Given the description of an element on the screen output the (x, y) to click on. 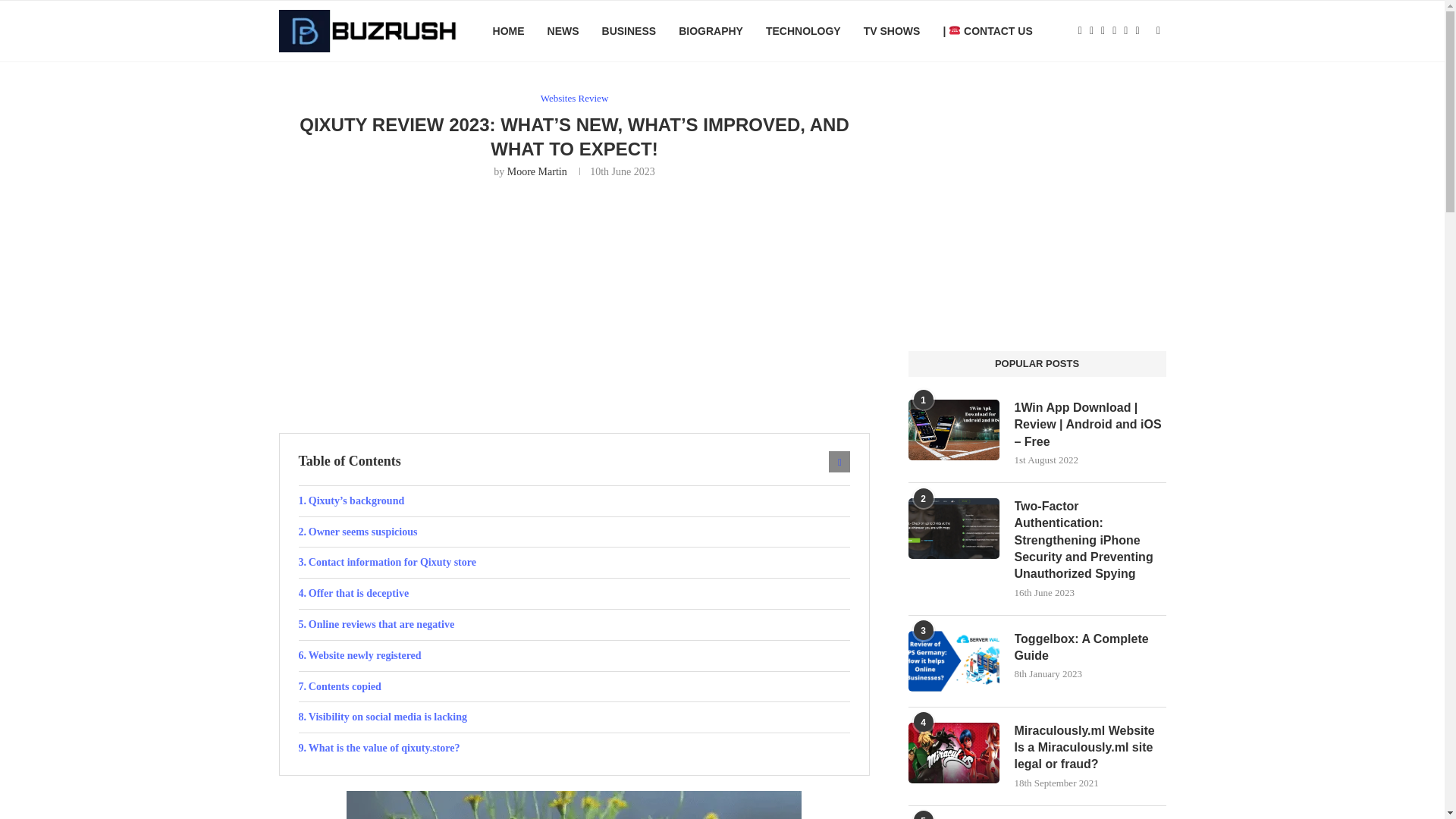
TV SHOWS (891, 30)
Visibility on social media is lacking (574, 716)
Contents copied (574, 686)
Owner seems suspicious (574, 531)
Advertisement (574, 304)
Contents copied (574, 686)
BUSINESS (629, 30)
Offer that is deceptive (574, 593)
TECHNOLOGY (803, 30)
Offer that is deceptive (574, 593)
BIOGRAPHY (710, 30)
What is the value of qixuty.store? (574, 748)
Owner seems suspicious (574, 531)
Online reviews that are negative (574, 624)
Contact information for Qixuty store (574, 562)
